Given the description of an element on the screen output the (x, y) to click on. 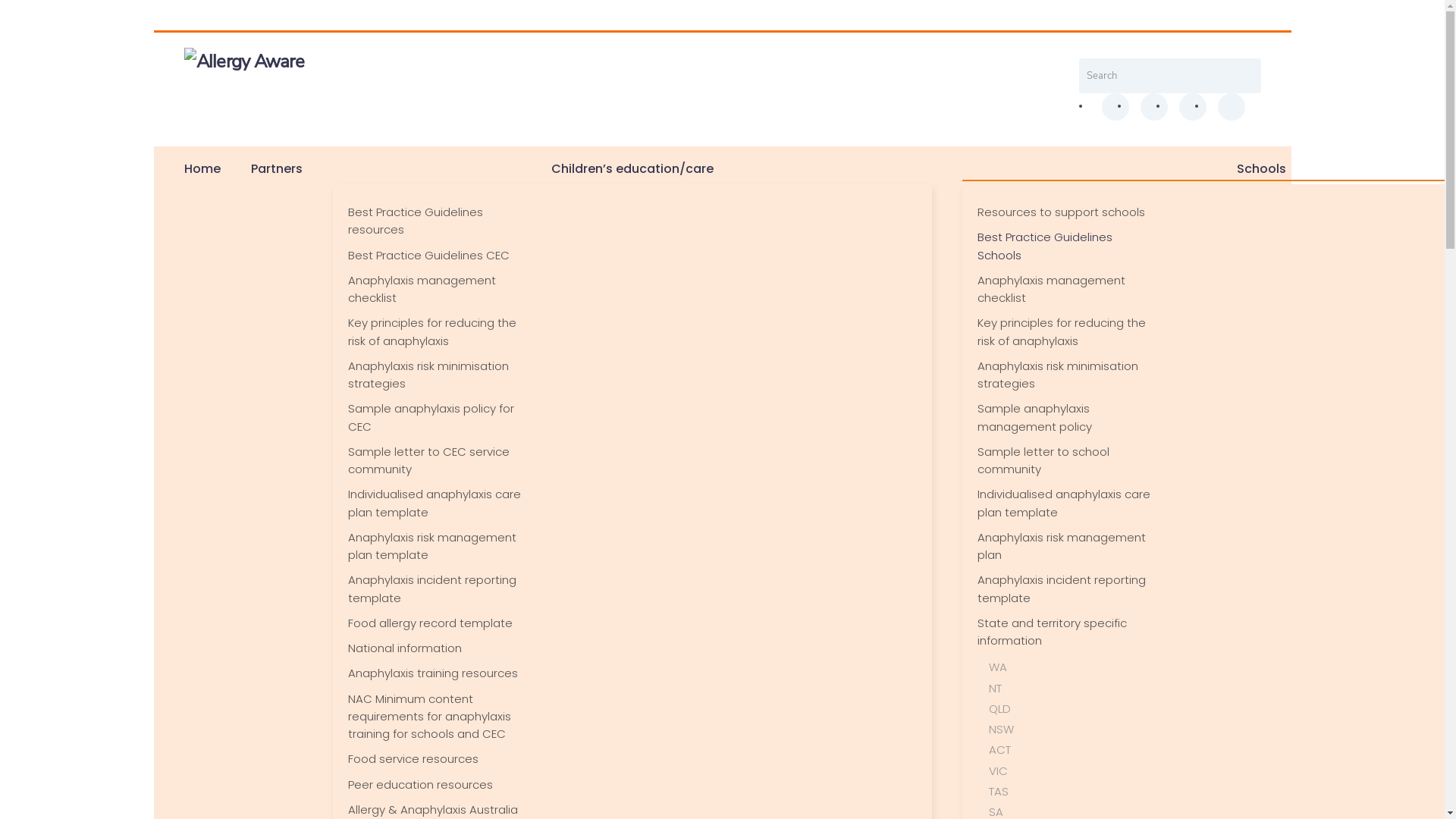
Anaphylaxis risk management plan template Element type: text (434, 545)
Anaphylaxis incident reporting template Element type: text (434, 588)
Anaphylaxis management checklist Element type: text (434, 288)
Sample anaphylaxis management policy Element type: text (1063, 417)
TAS Element type: text (1069, 791)
Best Practice Guidelines Schools Element type: text (1063, 245)
Anaphylaxis training resources Element type: text (434, 672)
NT Element type: text (1069, 687)
Peer education resources Element type: text (434, 784)
NSW Element type: text (1069, 728)
Home Element type: text (201, 168)
Sample letter to school community Element type: text (1063, 460)
QLD Element type: text (1069, 708)
Best Practice Guidelines resources Element type: text (434, 220)
Sample anaphylaxis policy for CEC Element type: text (434, 417)
Individualised anaphylaxis care plan template Element type: text (434, 502)
Anaphylaxis risk minimisation strategies Element type: text (434, 374)
Key principles for reducing the risk of anaphylaxis Element type: text (434, 331)
Anaphylaxis risk minimisation strategies Element type: text (1063, 374)
Anaphylaxis management checklist Element type: text (1063, 288)
Food allergy record template Element type: text (434, 622)
Key principles for reducing the risk of anaphylaxis Element type: text (1063, 331)
State and territory specific information Element type: text (1063, 631)
National information Element type: text (434, 647)
Sample letter to CEC service community Element type: text (434, 460)
Partners Element type: text (275, 168)
WA Element type: text (1069, 666)
VIC Element type: text (1069, 769)
Anaphylaxis incident reporting template Element type: text (1063, 588)
Individualised anaphylaxis care plan template Element type: text (1063, 502)
Anaphylaxis risk management plan Element type: text (1063, 545)
Best Practice Guidelines CEC Element type: text (434, 254)
Food service resources Element type: text (434, 758)
ACT Element type: text (1069, 749)
Resources to support schools Element type: text (1063, 211)
